Given the description of an element on the screen output the (x, y) to click on. 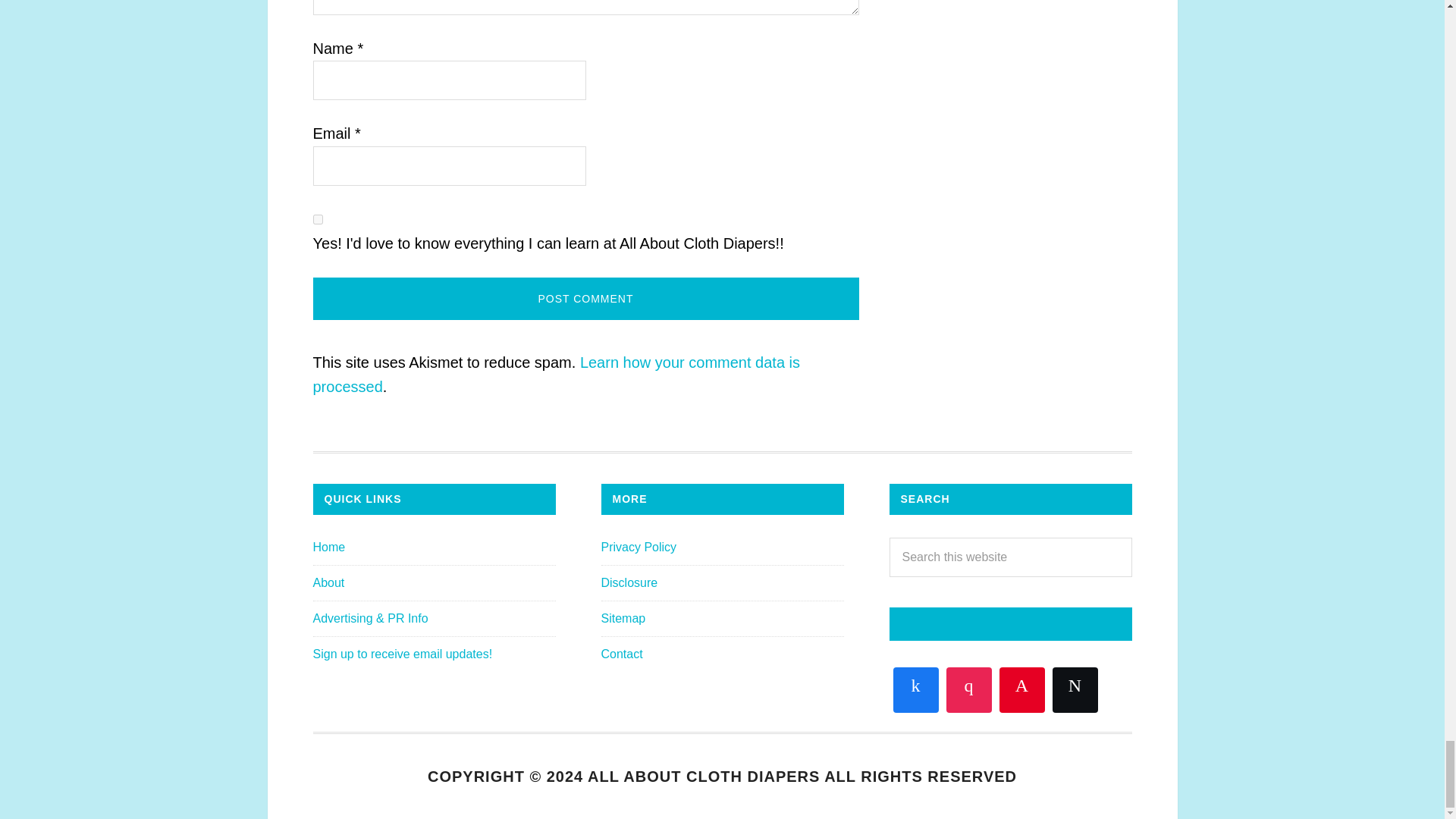
yes (317, 219)
Post Comment (586, 298)
